Given the description of an element on the screen output the (x, y) to click on. 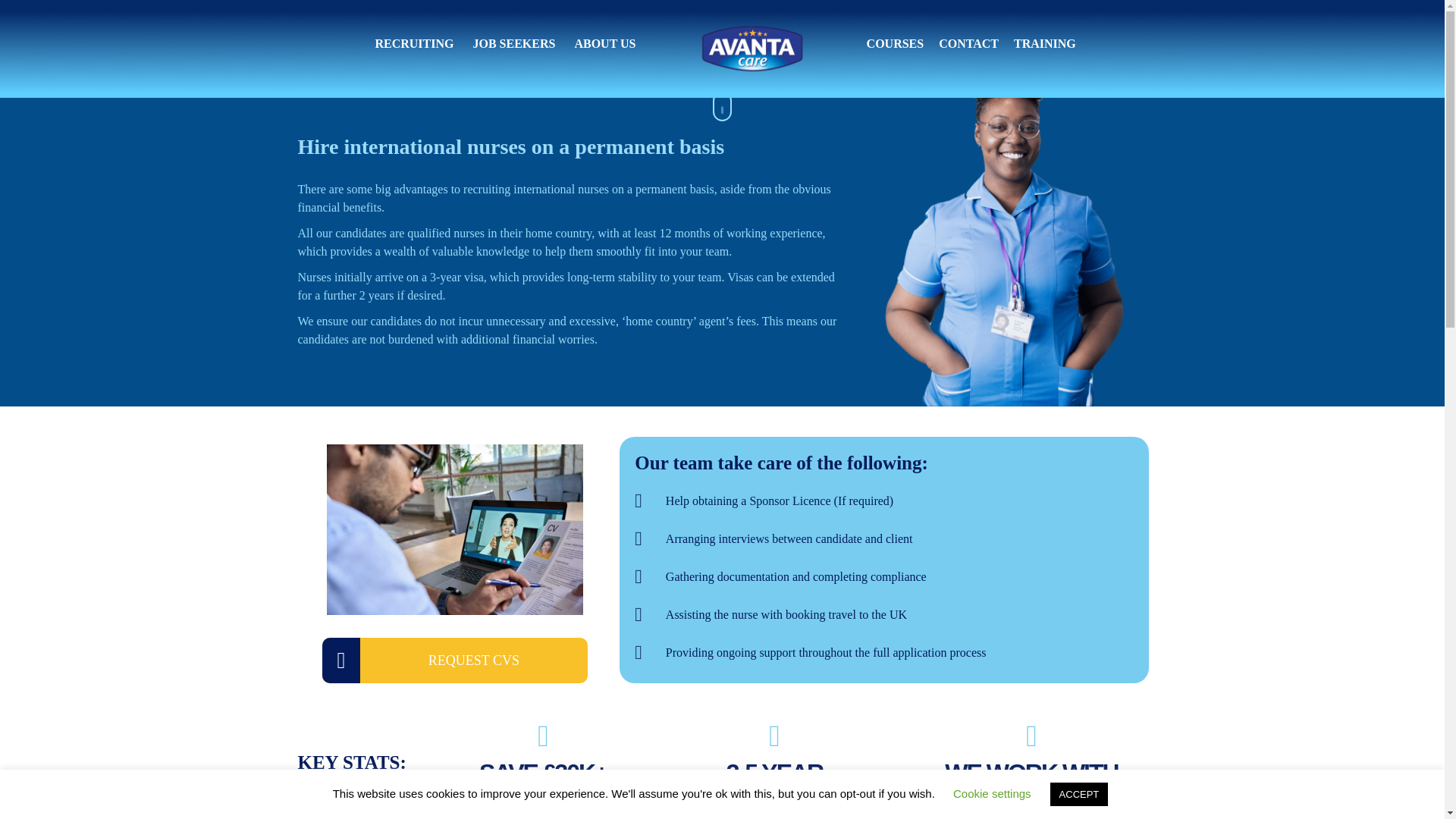
TRAINING (1044, 43)
REQUEST CVS (454, 660)
COURSES (895, 43)
CONTACT (968, 43)
JOB SEEKERS (512, 43)
ABOUT US (603, 43)
RECRUITING (413, 43)
